Given the description of an element on the screen output the (x, y) to click on. 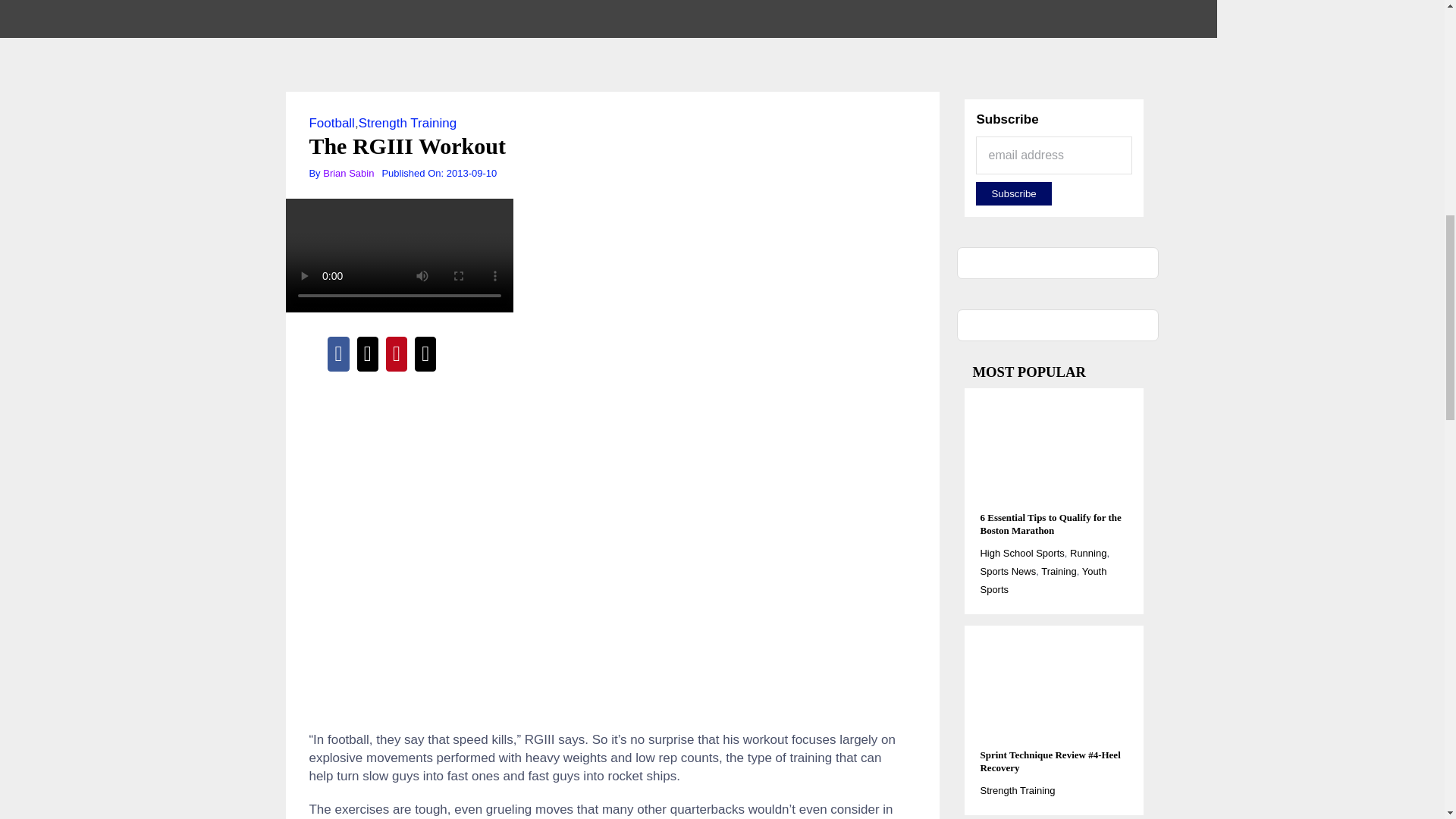
Posts by Brian Sabin (348, 173)
Subscribe (1013, 193)
Football (330, 123)
Strength Training (407, 123)
